Given the description of an element on the screen output the (x, y) to click on. 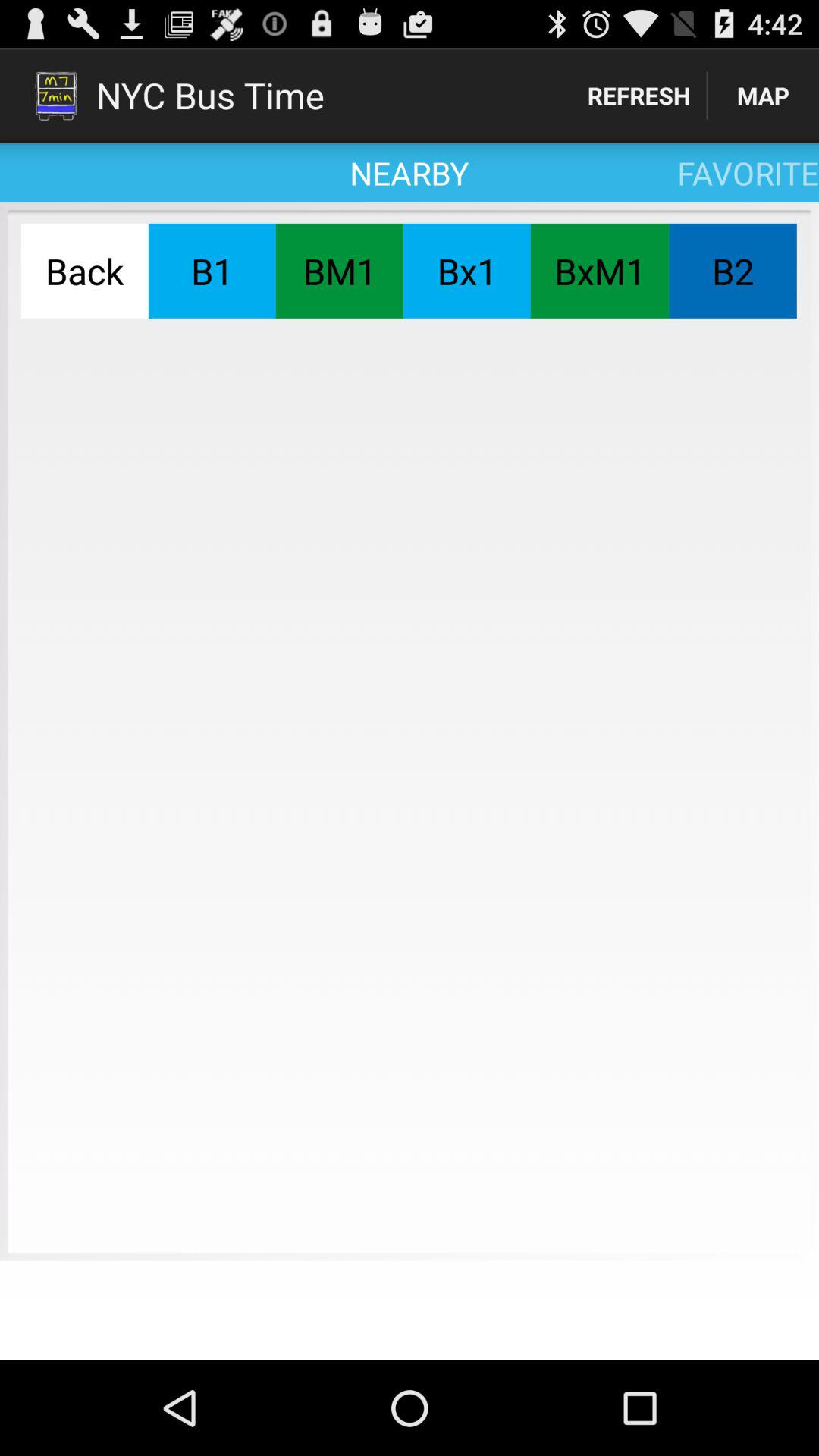
click map (763, 95)
